Given the description of an element on the screen output the (x, y) to click on. 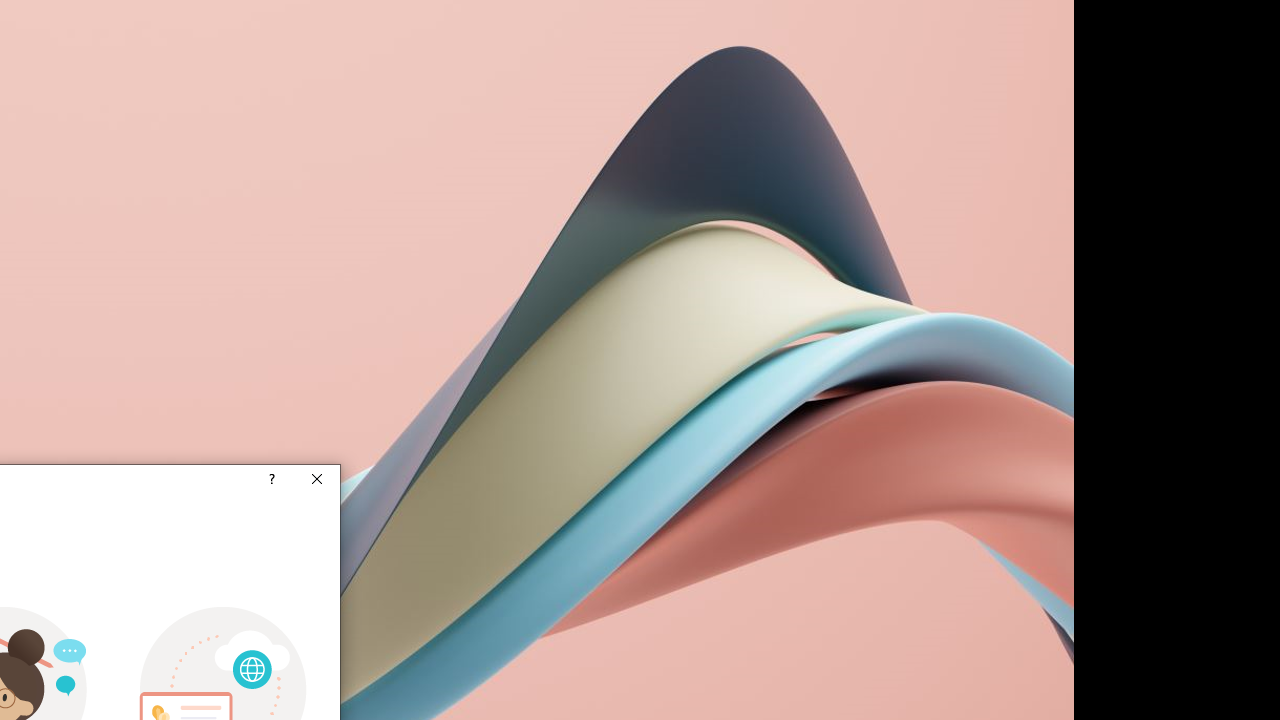
Context help (270, 480)
